Given the description of an element on the screen output the (x, y) to click on. 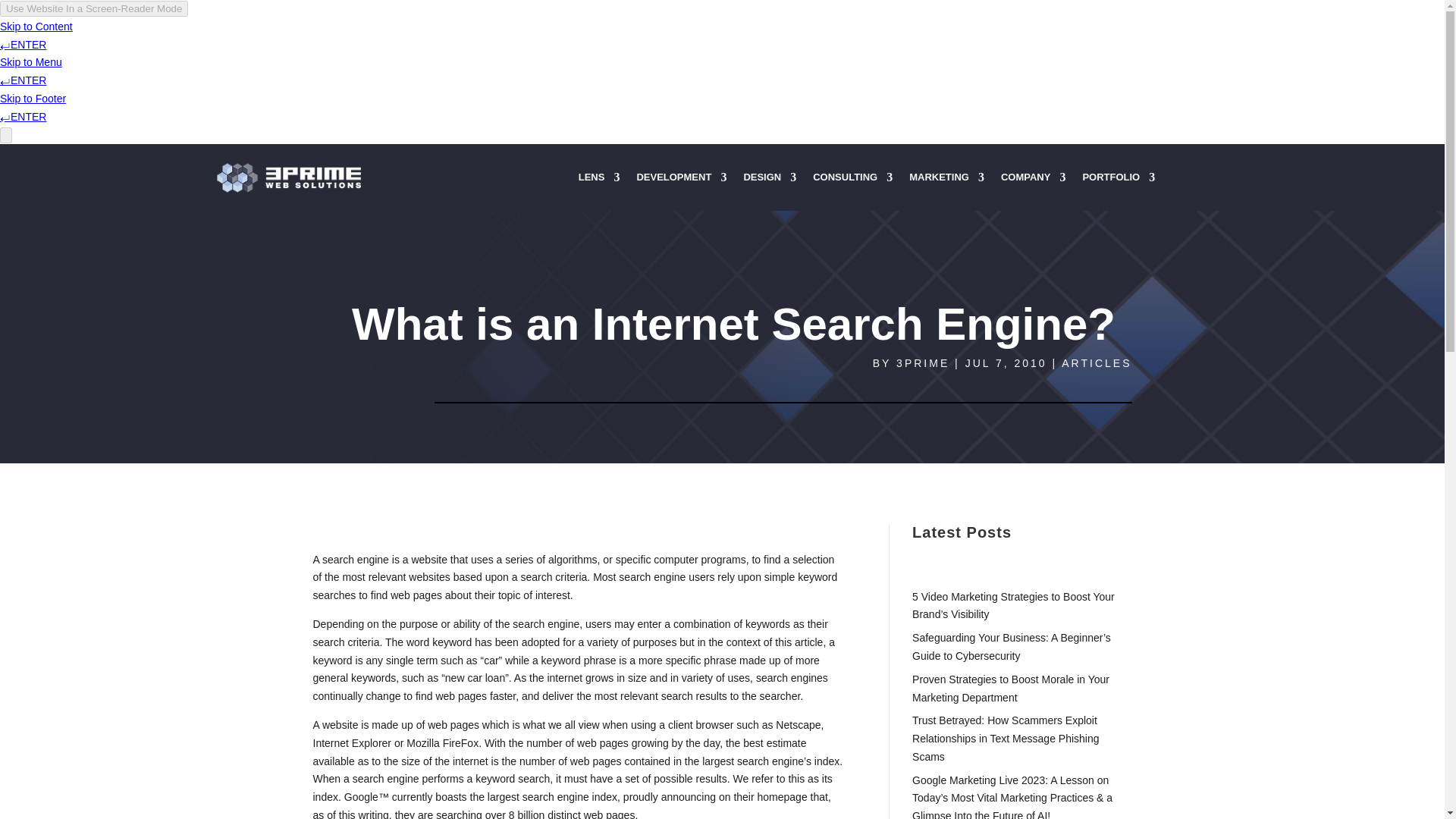
LENS (599, 180)
DESIGN (769, 180)
web-logo-trans-horizontal-white (288, 177)
DEVELOPMENT (681, 180)
MARKETING (946, 180)
CONSULTING (852, 180)
Posts by 3PRIME (922, 363)
